Given the description of an element on the screen output the (x, y) to click on. 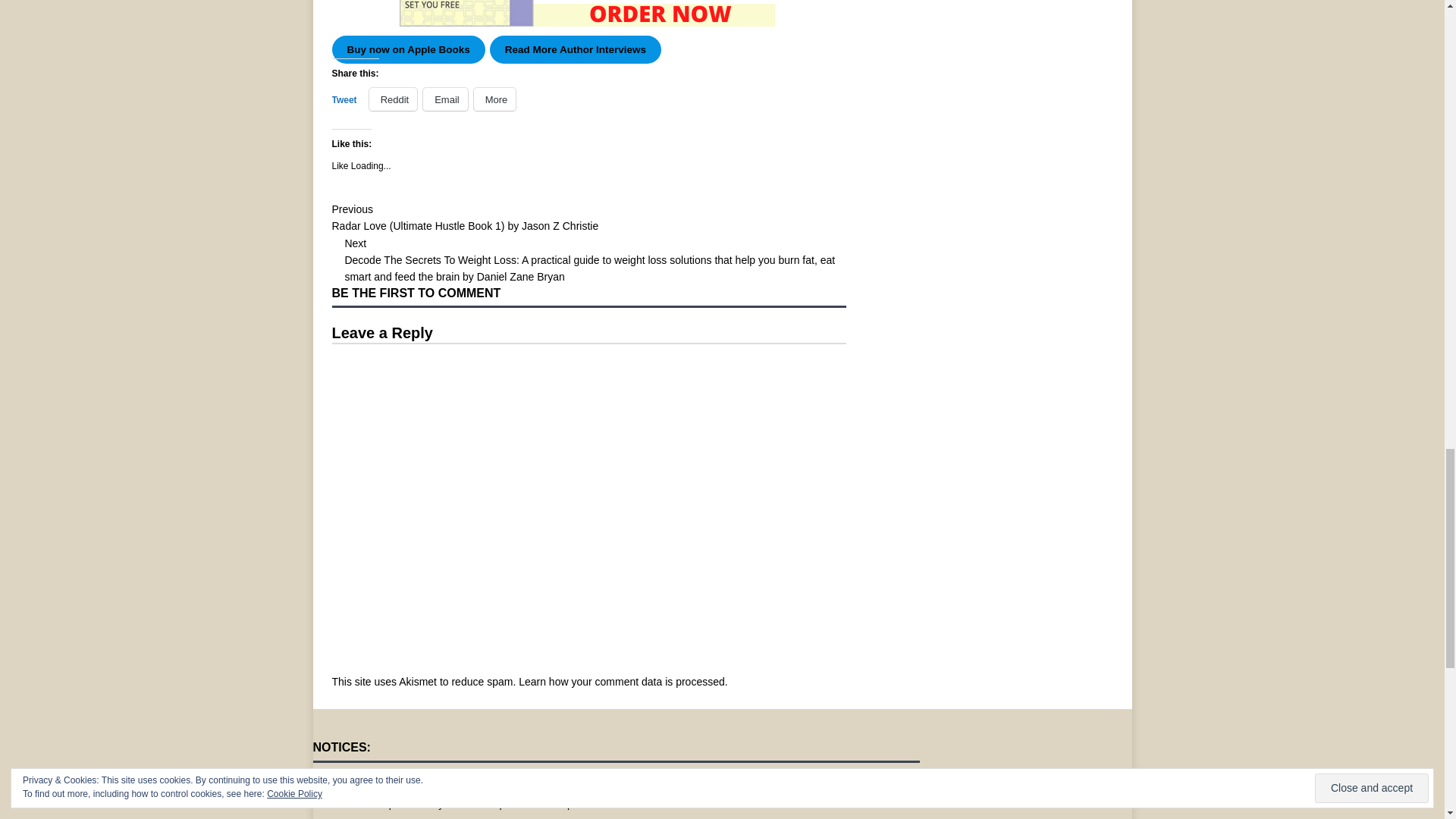
Click to email a link to a friend (445, 98)
Click to share on Reddit (393, 98)
